Given the description of an element on the screen output the (x, y) to click on. 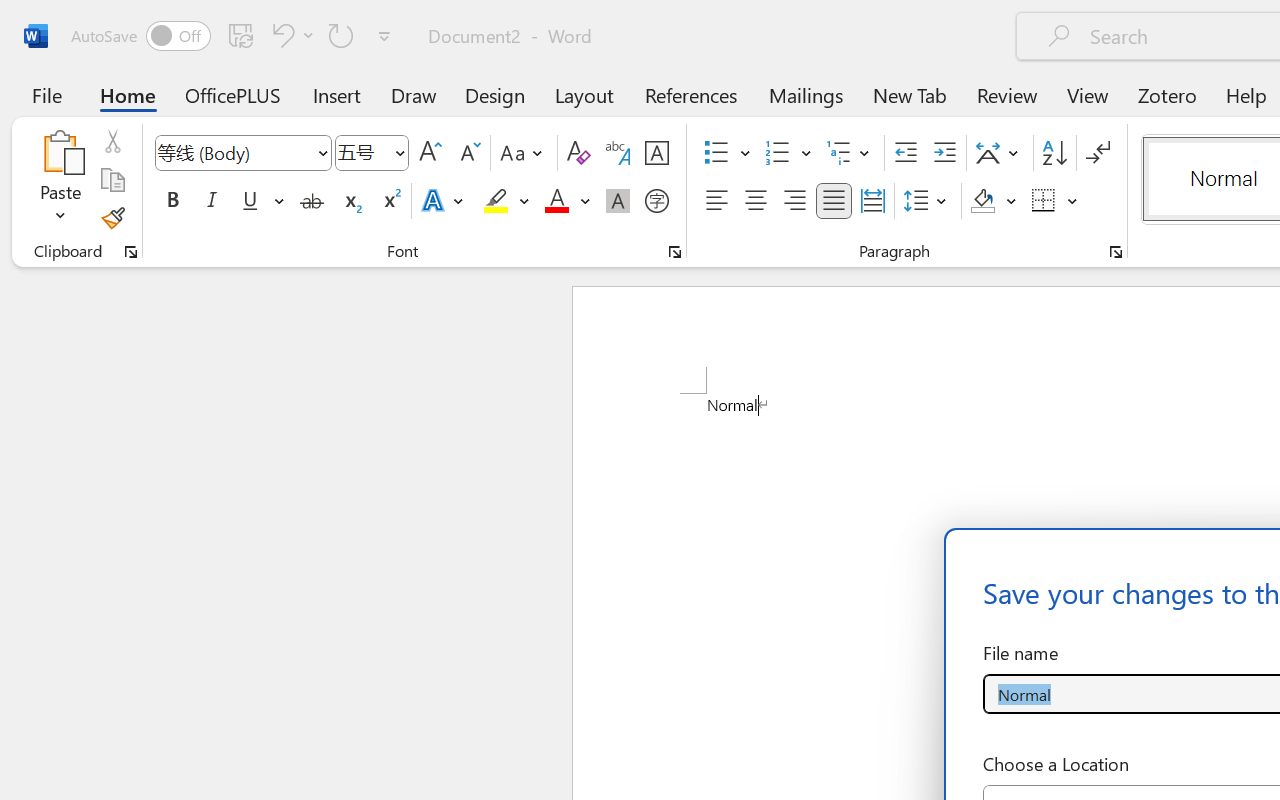
Layout (584, 94)
New Tab (909, 94)
Borders (1044, 201)
Align Left (716, 201)
Distributed (872, 201)
Multilevel List (850, 153)
Save (241, 35)
Underline (250, 201)
Character Border (656, 153)
Design (495, 94)
Italic (212, 201)
Format Painter (112, 218)
Grow Font (430, 153)
References (690, 94)
